Given the description of an element on the screen output the (x, y) to click on. 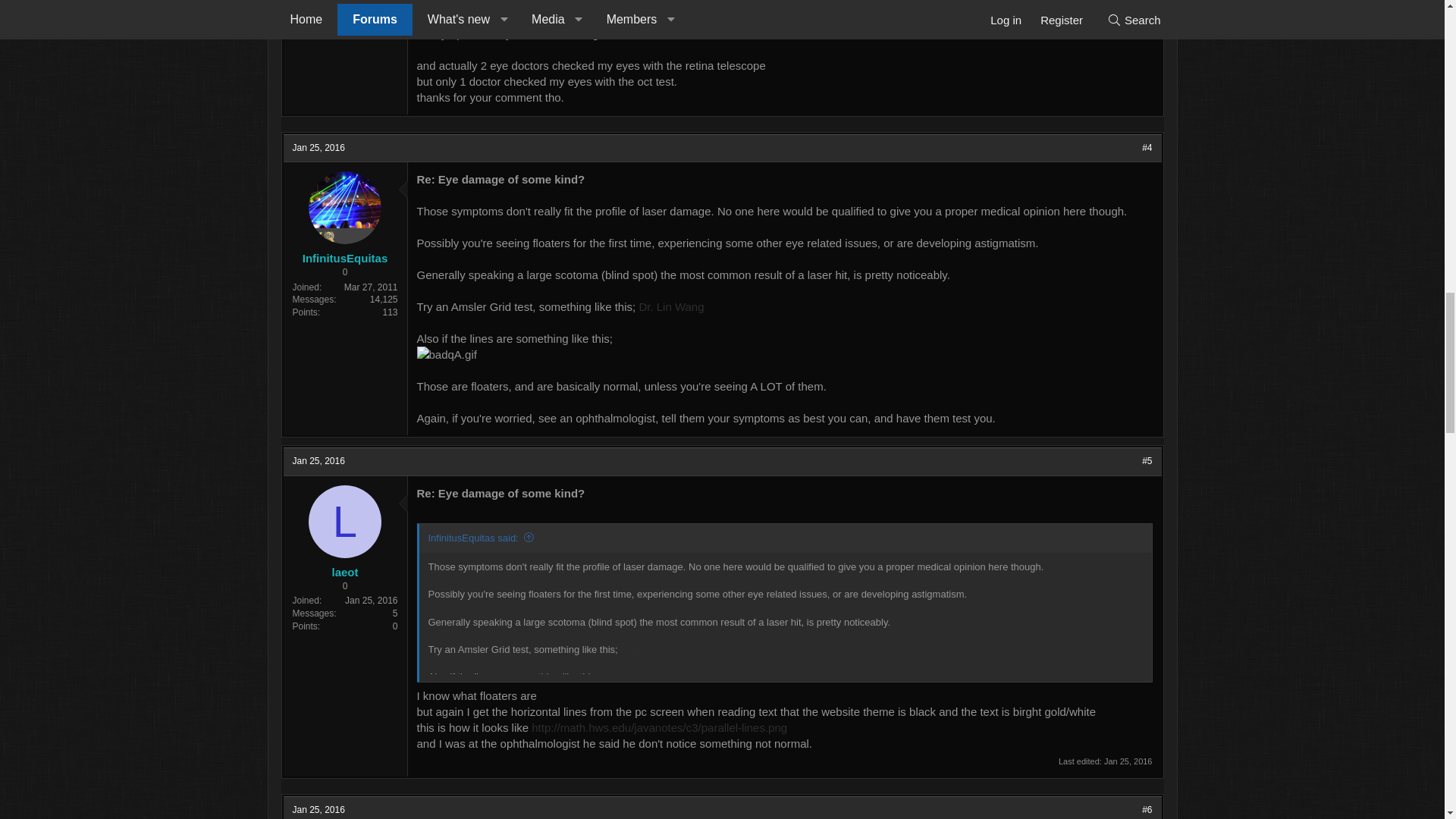
badqA.gif (446, 354)
Jan 25, 2016 at 6:03 PM (318, 460)
Jan 25, 2016 at 5:47 PM (318, 147)
